Given the description of an element on the screen output the (x, y) to click on. 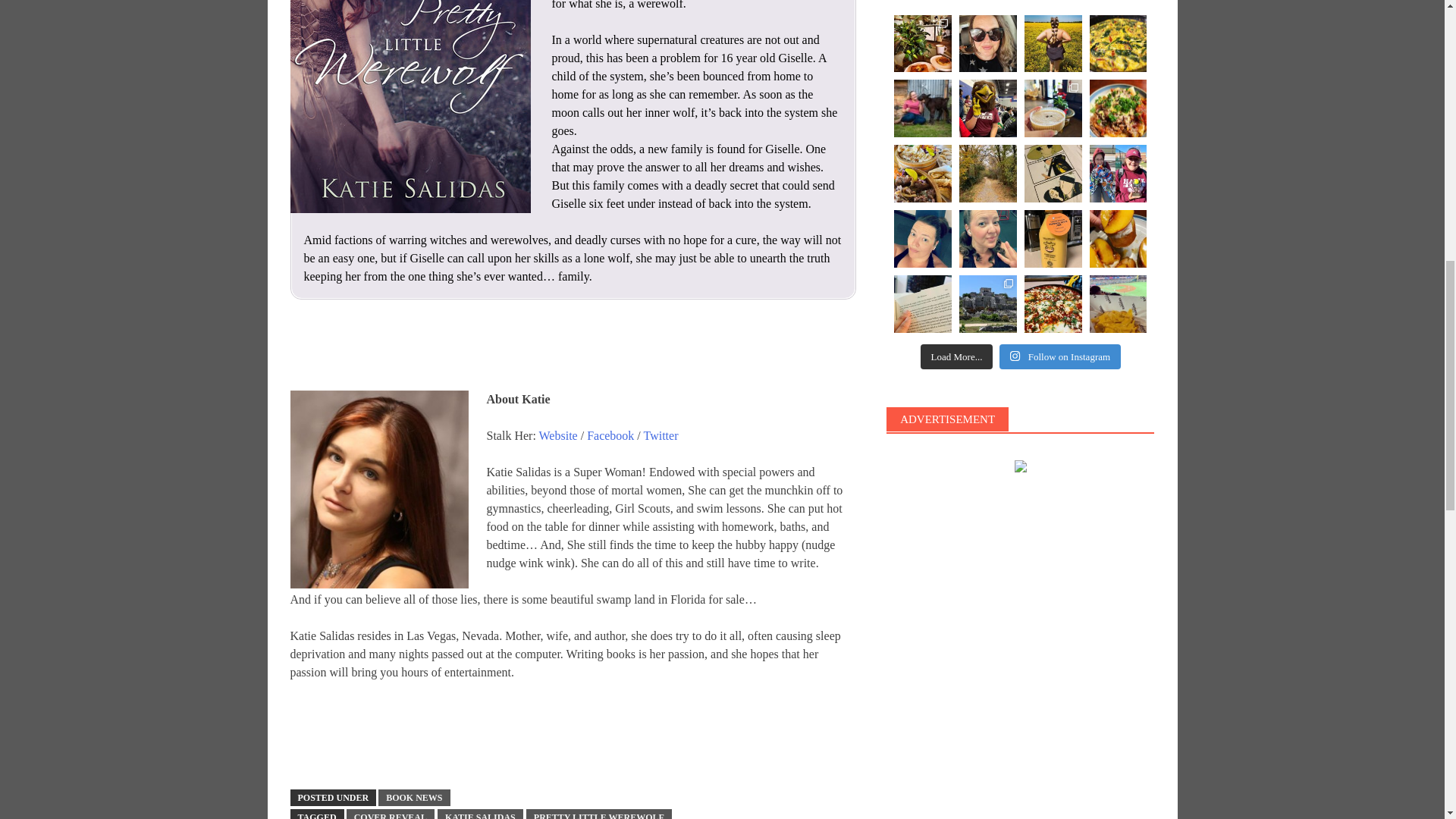
BOOK NEWS (413, 797)
Website (558, 435)
PRETTY LITTLE WEREWOLF (598, 814)
Twitter (660, 435)
Facebook (609, 435)
COVER REVEAL (389, 814)
KATIE SALIDAS (480, 814)
